Given the description of an element on the screen output the (x, y) to click on. 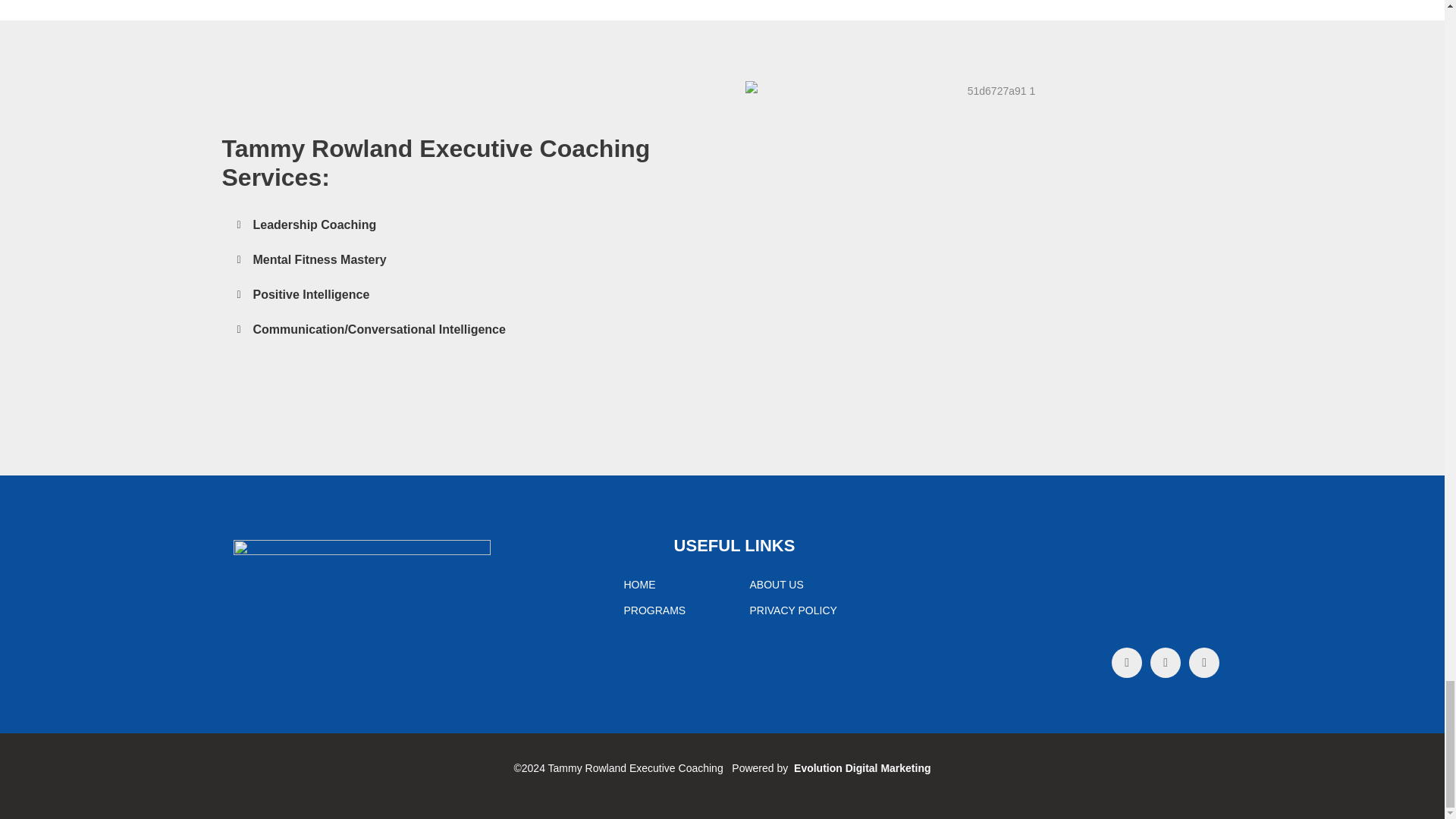
twitter (1165, 662)
facebook (1126, 662)
linkedin (1204, 662)
